Given the description of an element on the screen output the (x, y) to click on. 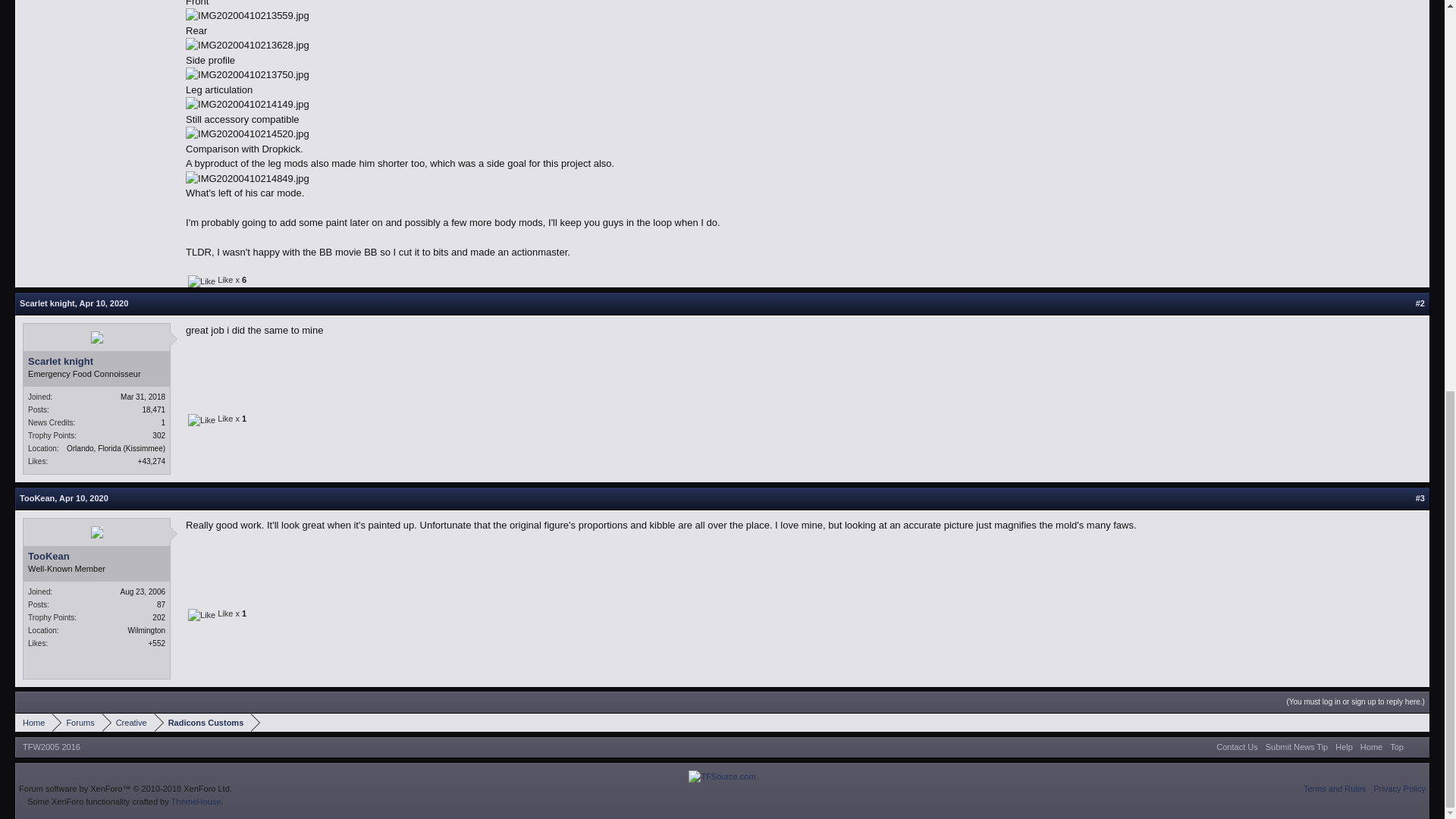
Like (201, 280)
18,471 (153, 409)
Like (201, 614)
TooKean (37, 497)
Open quick navigation (1420, 722)
Wilmington (146, 630)
Like (201, 420)
302 (158, 435)
TooKean (96, 556)
Permalink (104, 302)
